Given the description of an element on the screen output the (x, y) to click on. 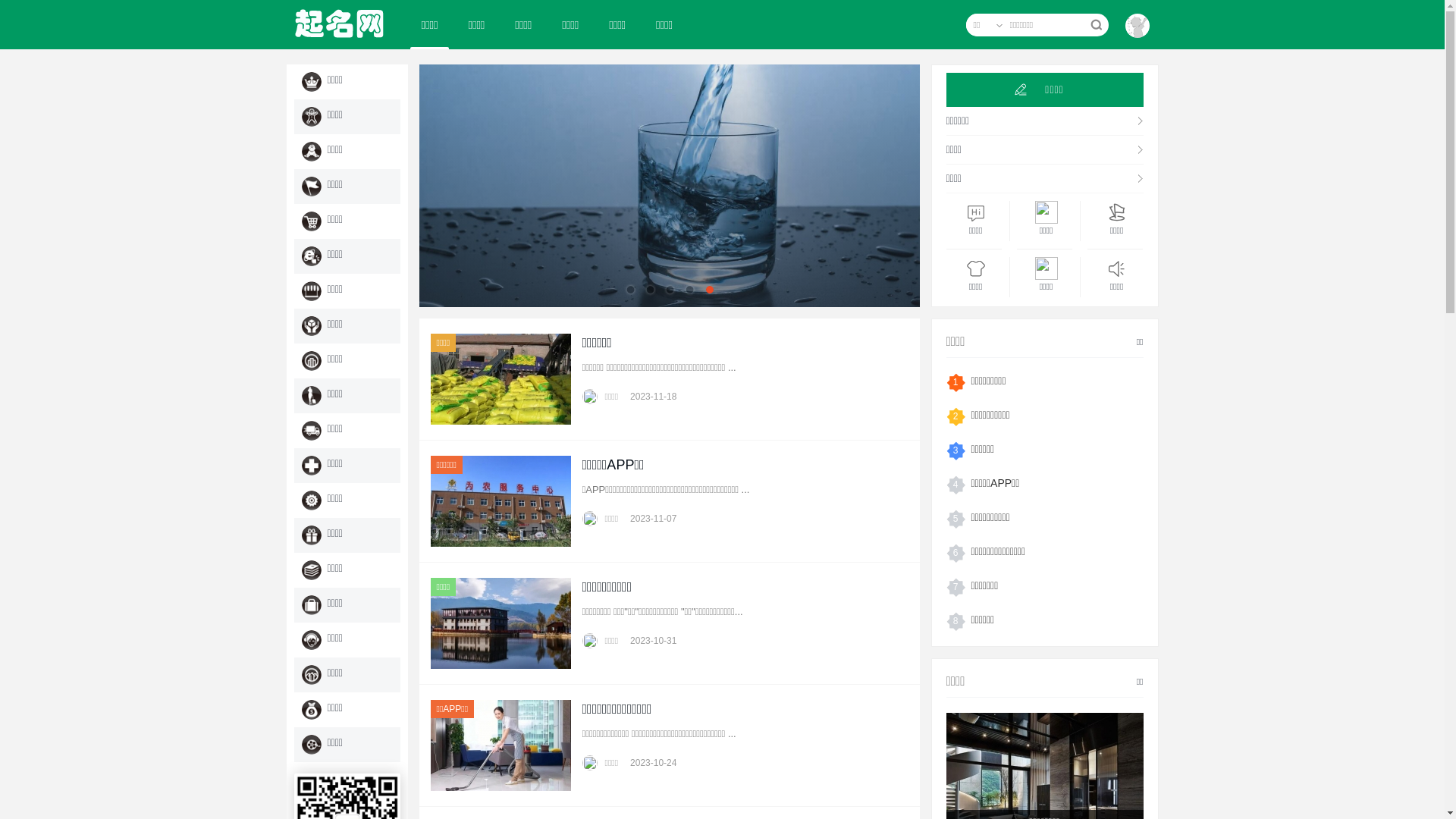
true Element type: text (1094, 24)
